Given the description of an element on the screen output the (x, y) to click on. 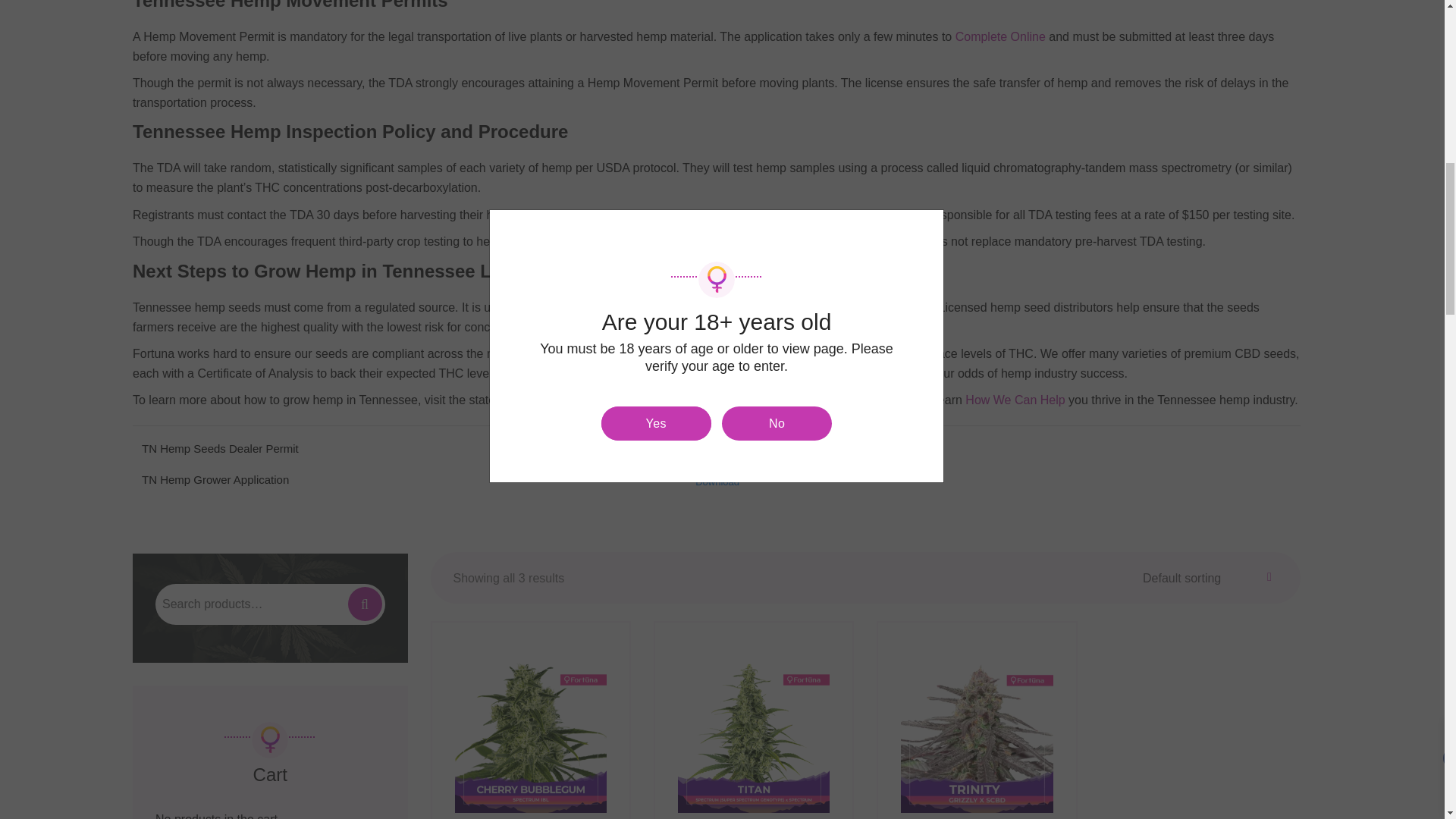
Contact Us (888, 399)
How We Can Help (1014, 399)
TN Hemp Seeds Dealer Permit (413, 448)
Department Of Agriculture Hemp Website (618, 399)
Complete Online (1000, 36)
